Given the description of an element on the screen output the (x, y) to click on. 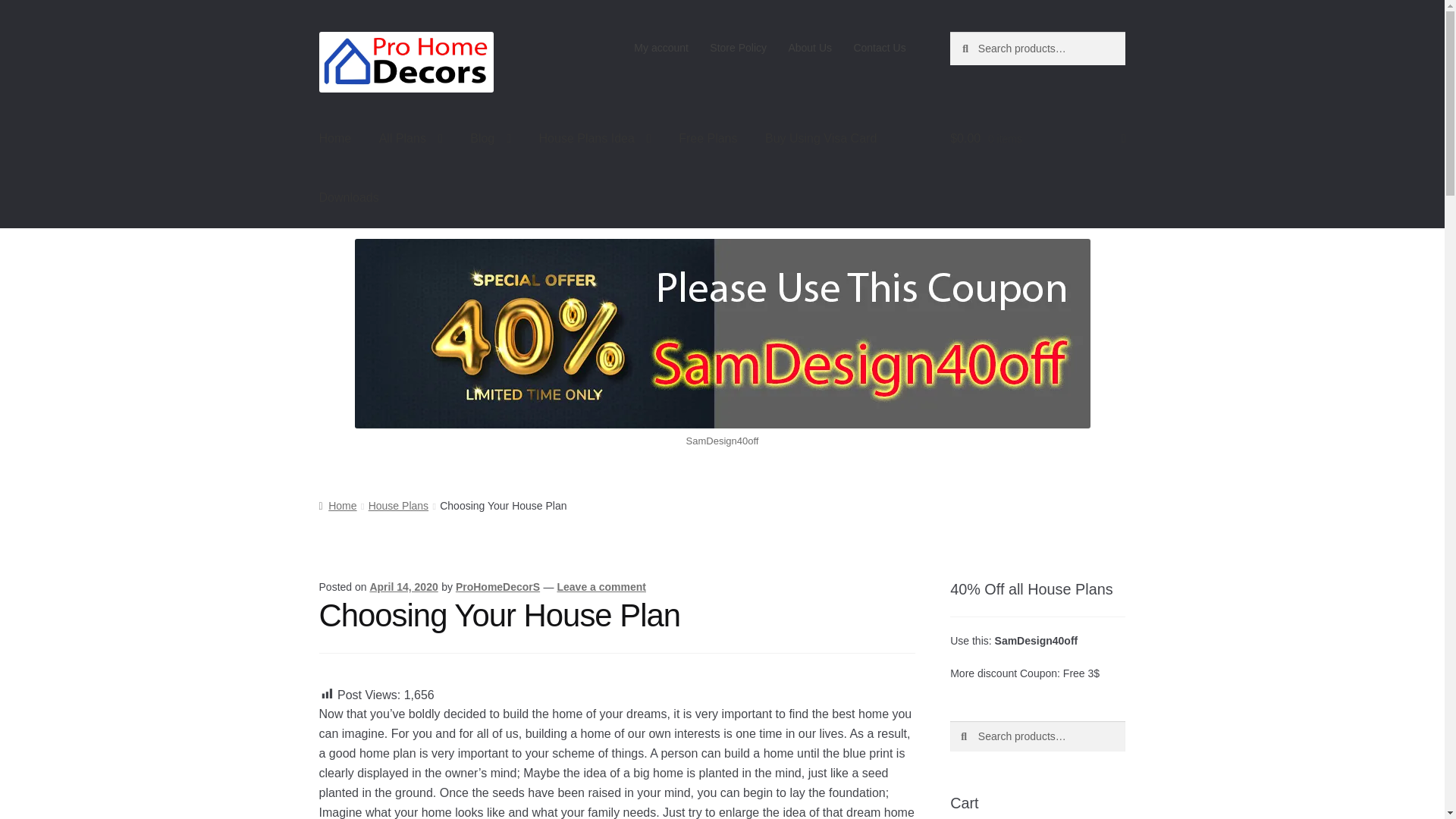
About Us (809, 47)
House Plans Idea (595, 138)
Downloads (349, 197)
Free Plans (707, 138)
My account (660, 47)
Contact Us (879, 47)
Store Policy (738, 47)
Buy Using Visa Card (820, 138)
Blog (490, 138)
All Plans (410, 138)
View your shopping cart (1037, 138)
Home (335, 138)
